Given the description of an element on the screen output the (x, y) to click on. 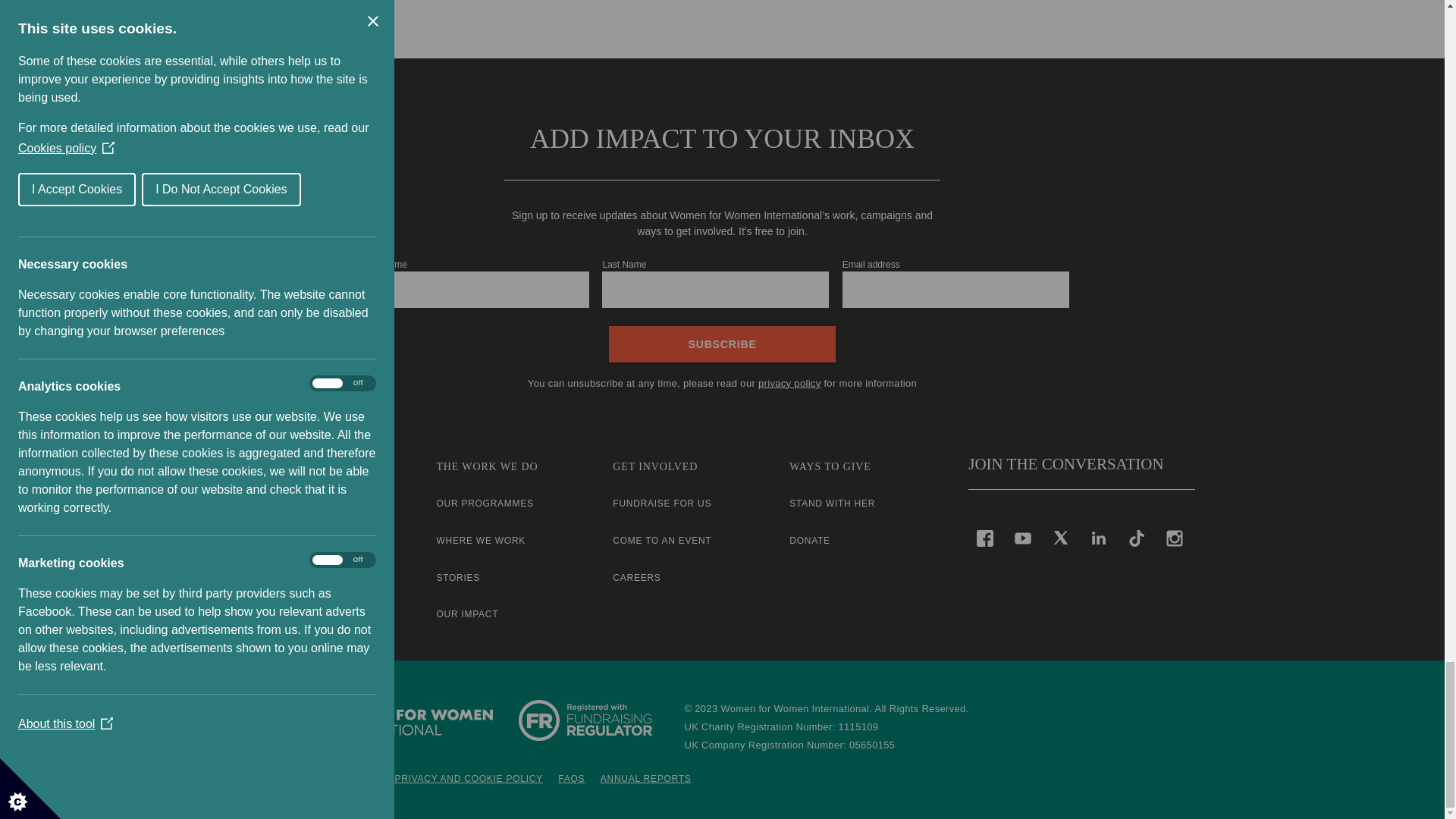
Subscribe (721, 343)
Home (371, 720)
